Given the description of an element on the screen output the (x, y) to click on. 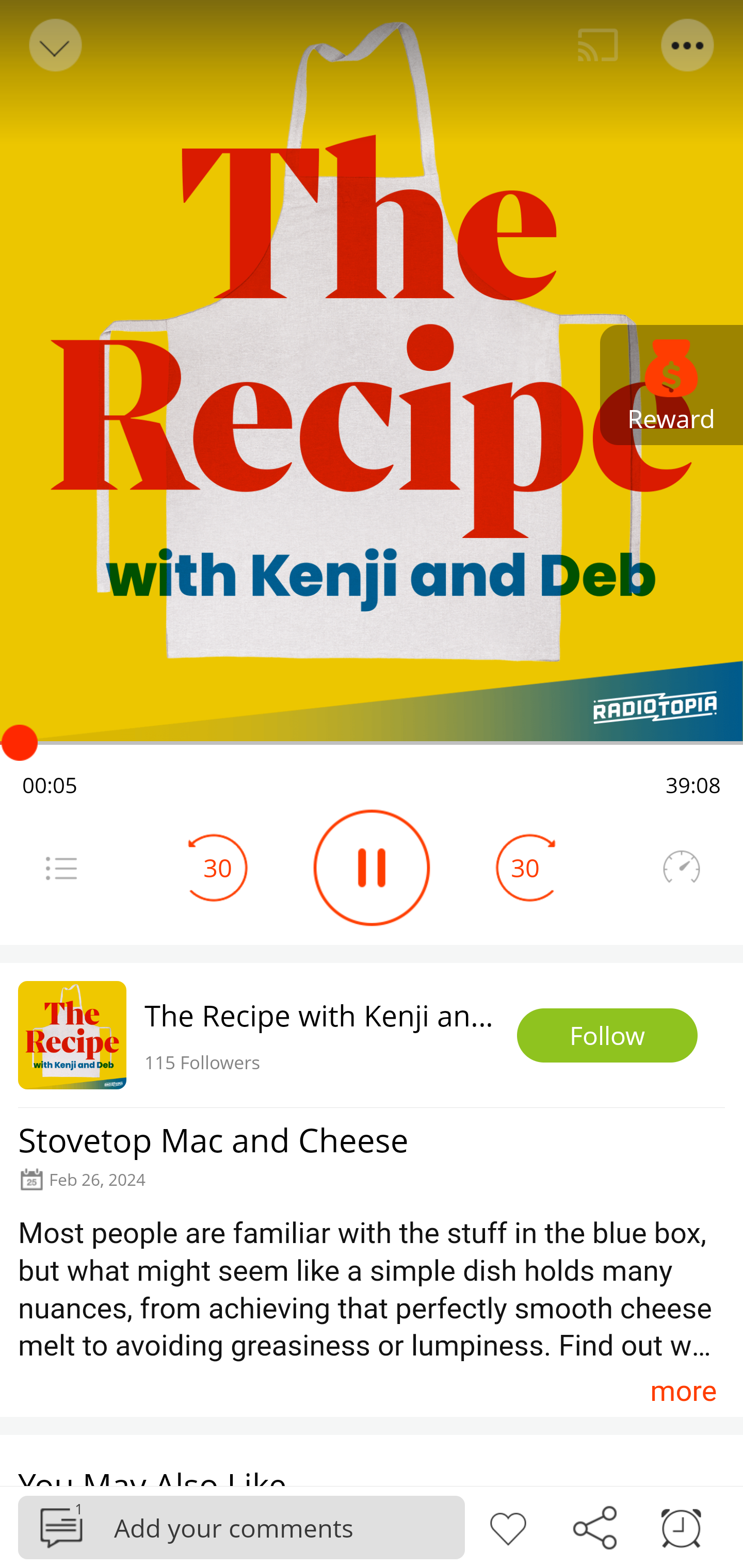
Back (53, 45)
Cast. Disconnected (597, 45)
Menu (688, 45)
Reward (671, 384)
Play (371, 867)
30 Seek Backward (217, 867)
30 Seek Forward (525, 867)
Menu (60, 867)
Speedometer (681, 867)
The Recipe with Kenji and Deb 115 Followers Follow (371, 1034)
Follow (607, 1035)
more (682, 1390)
Like (508, 1526)
Share (594, 1526)
Sleep timer (681, 1526)
Podbean 1 Add your comments (241, 1526)
